Given the description of an element on the screen output the (x, y) to click on. 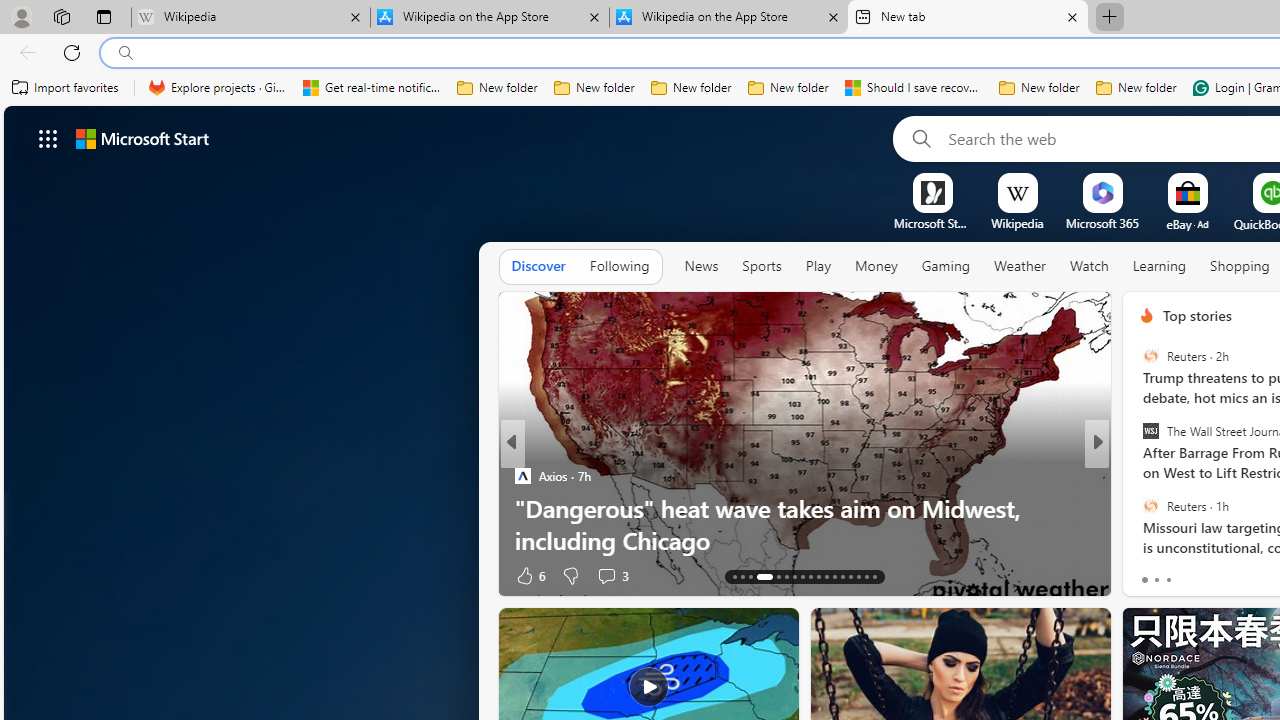
45 Like (1149, 574)
AutomationID: tab-18 (786, 576)
43 Like (532, 574)
The Cool Down (1138, 475)
View comments 339 Comment (1247, 574)
MSNBC (1138, 475)
8 Like (1145, 574)
